Given the description of an element on the screen output the (x, y) to click on. 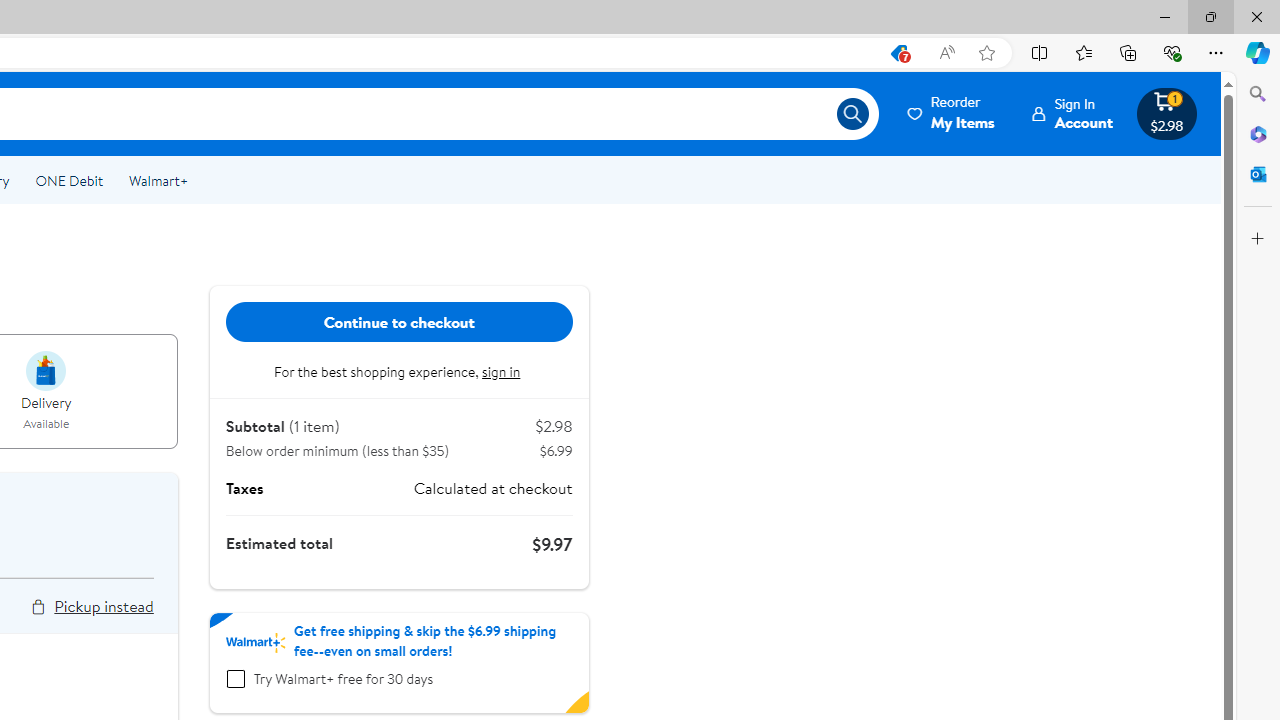
Try Walmart+ free for 30 days (235, 679)
Walmart+ (158, 180)
intent image for delivery (45, 370)
